Given the description of an element on the screen output the (x, y) to click on. 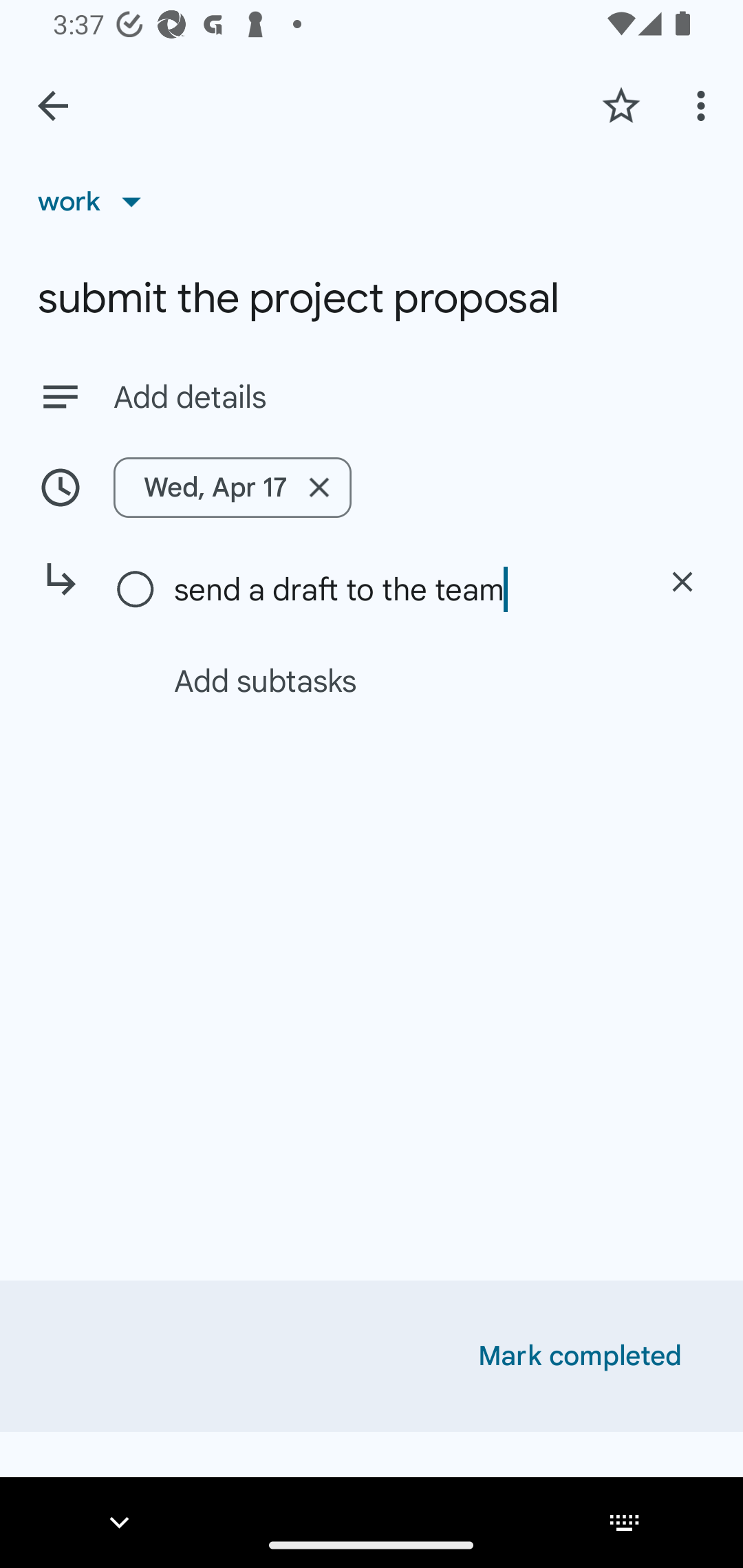
Back (53, 105)
Add star (620, 105)
More options (704, 105)
work List, work selected, 1 of 6 (95, 201)
submit the project proposal (371, 298)
Add details (371, 396)
Add details (409, 397)
Wed, Apr 17 Remove date/time (371, 487)
Wed, Apr 17 Remove date/time (232, 487)
send a draft to the team (401, 589)
Delete subtask (682, 581)
Mark as complete (136, 590)
Add subtasks (394, 680)
Mark completed (580, 1355)
